Given the description of an element on the screen output the (x, y) to click on. 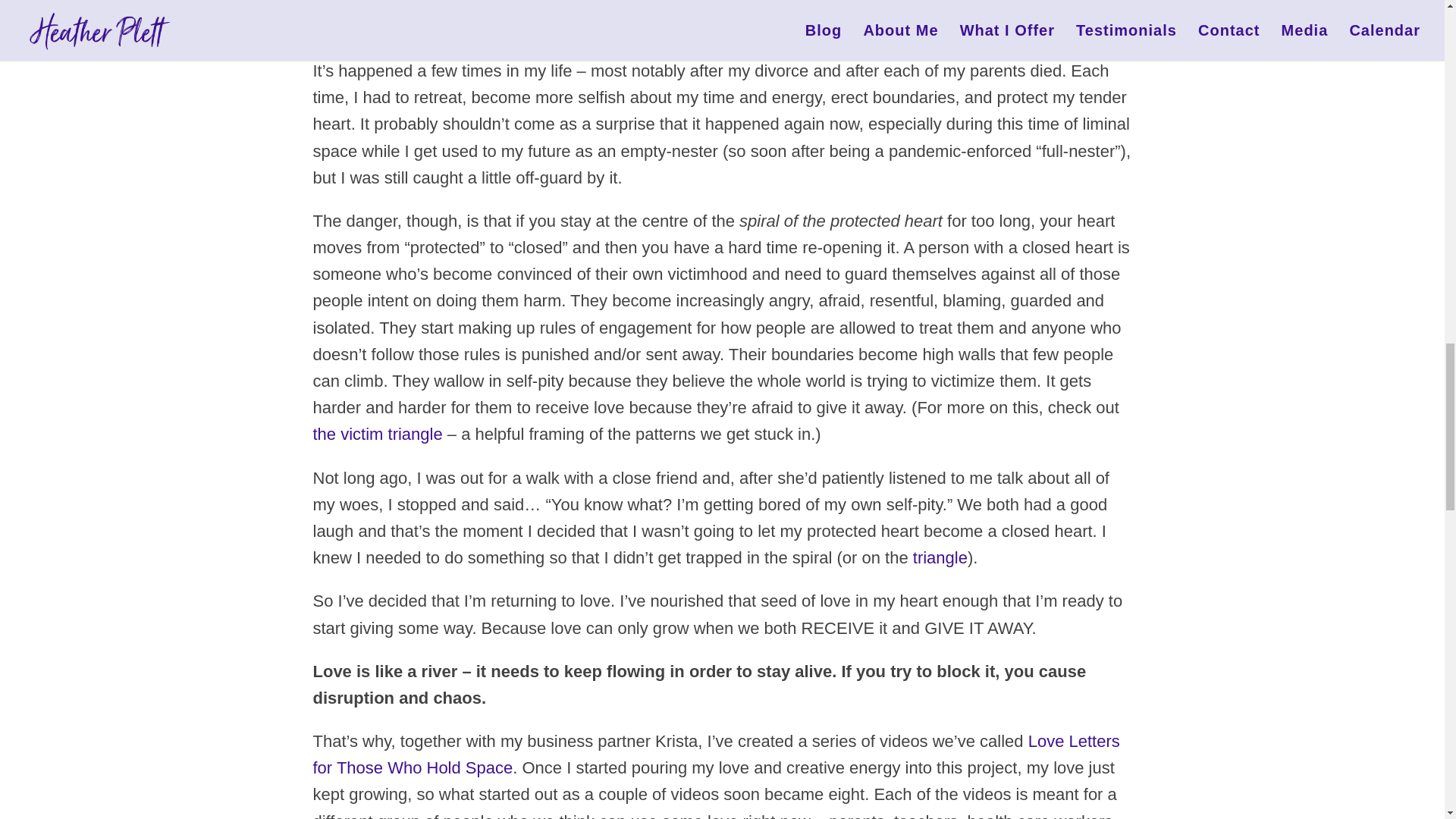
triangle (940, 557)
the victim triangle (377, 434)
Love Letters for Those Who Hold Space (716, 754)
